Given the description of an element on the screen output the (x, y) to click on. 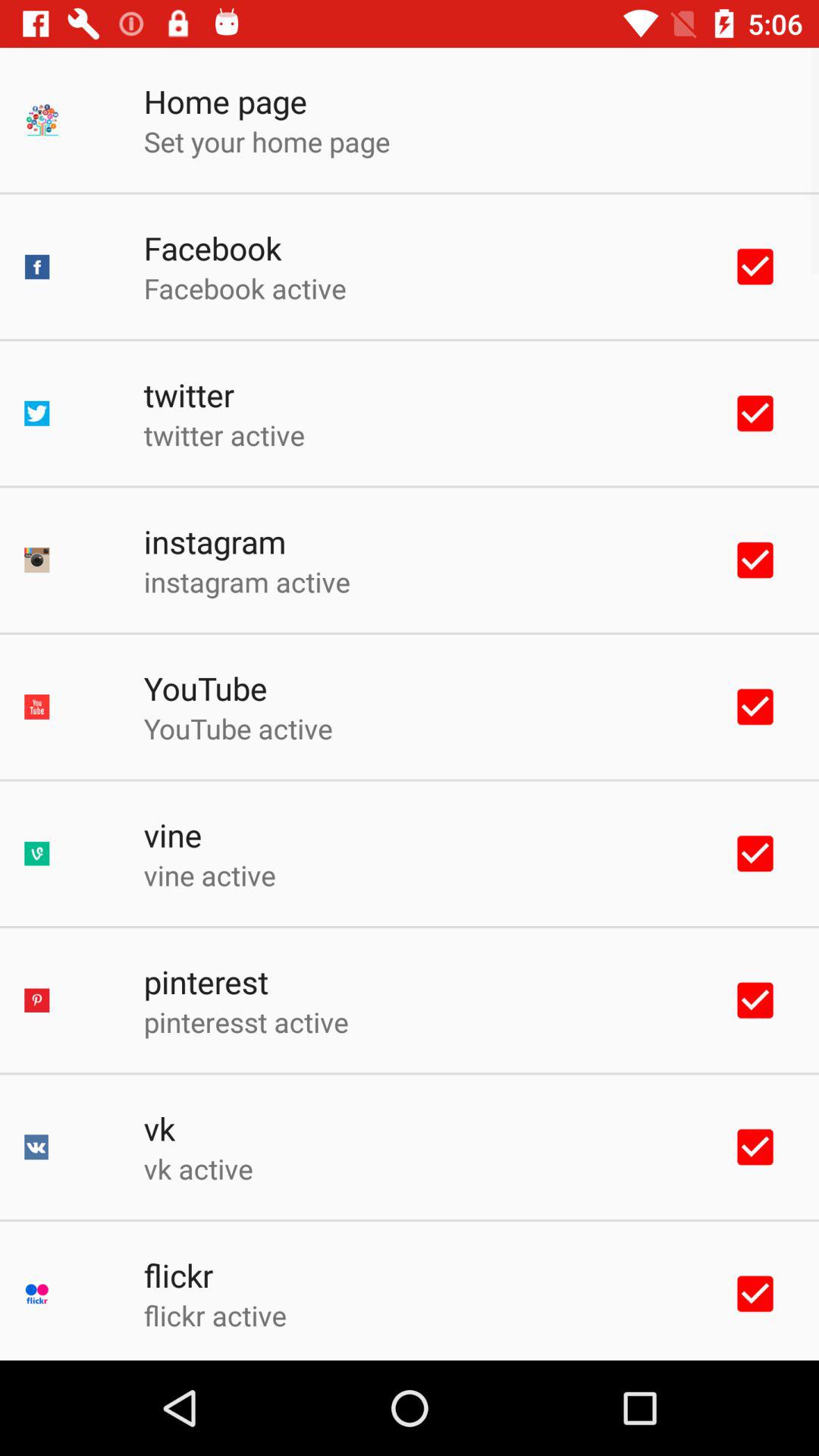
choose app above the pinteresst active (205, 981)
